Given the description of an element on the screen output the (x, y) to click on. 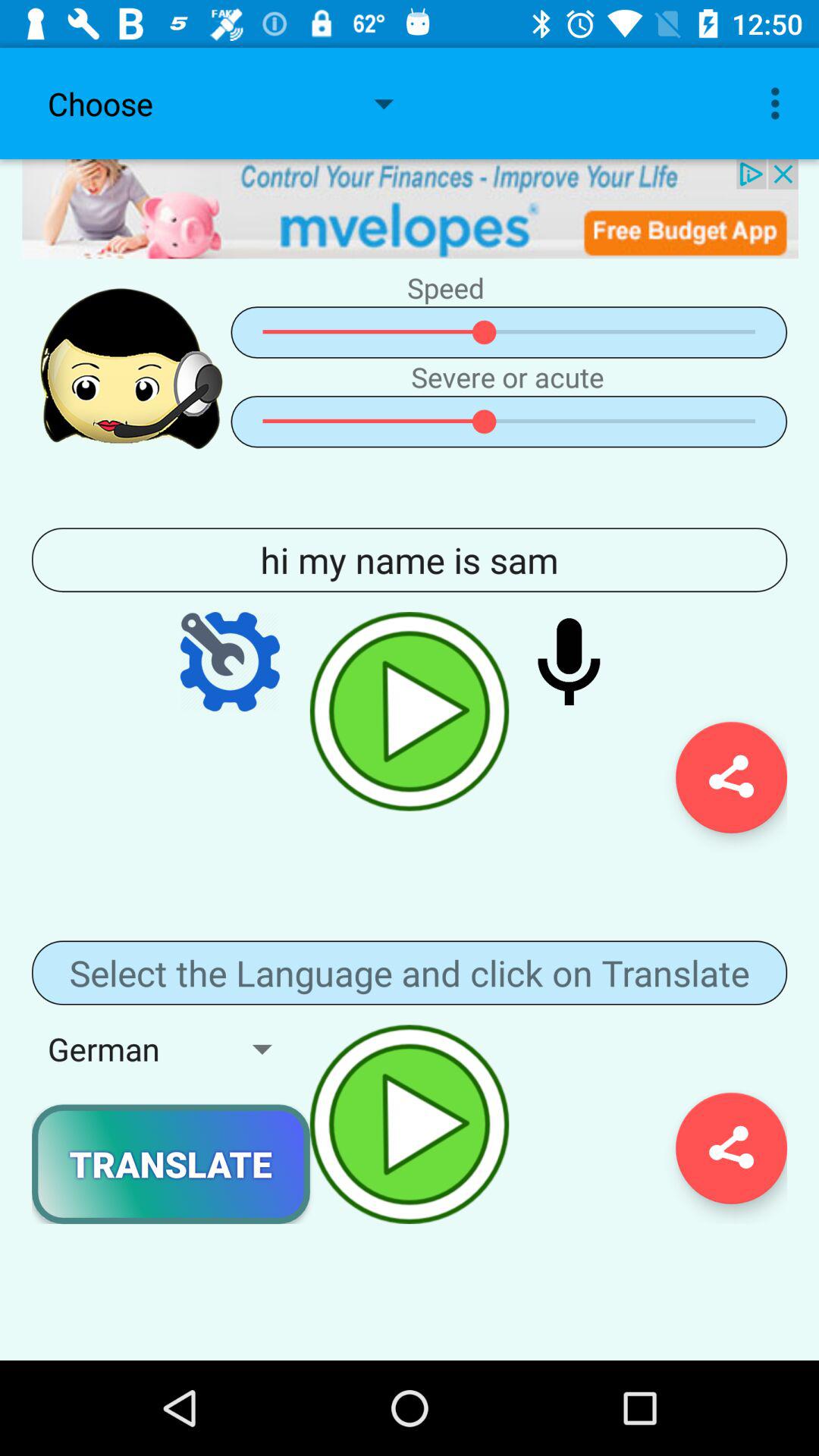
setting option turned on (229, 661)
